Given the description of an element on the screen output the (x, y) to click on. 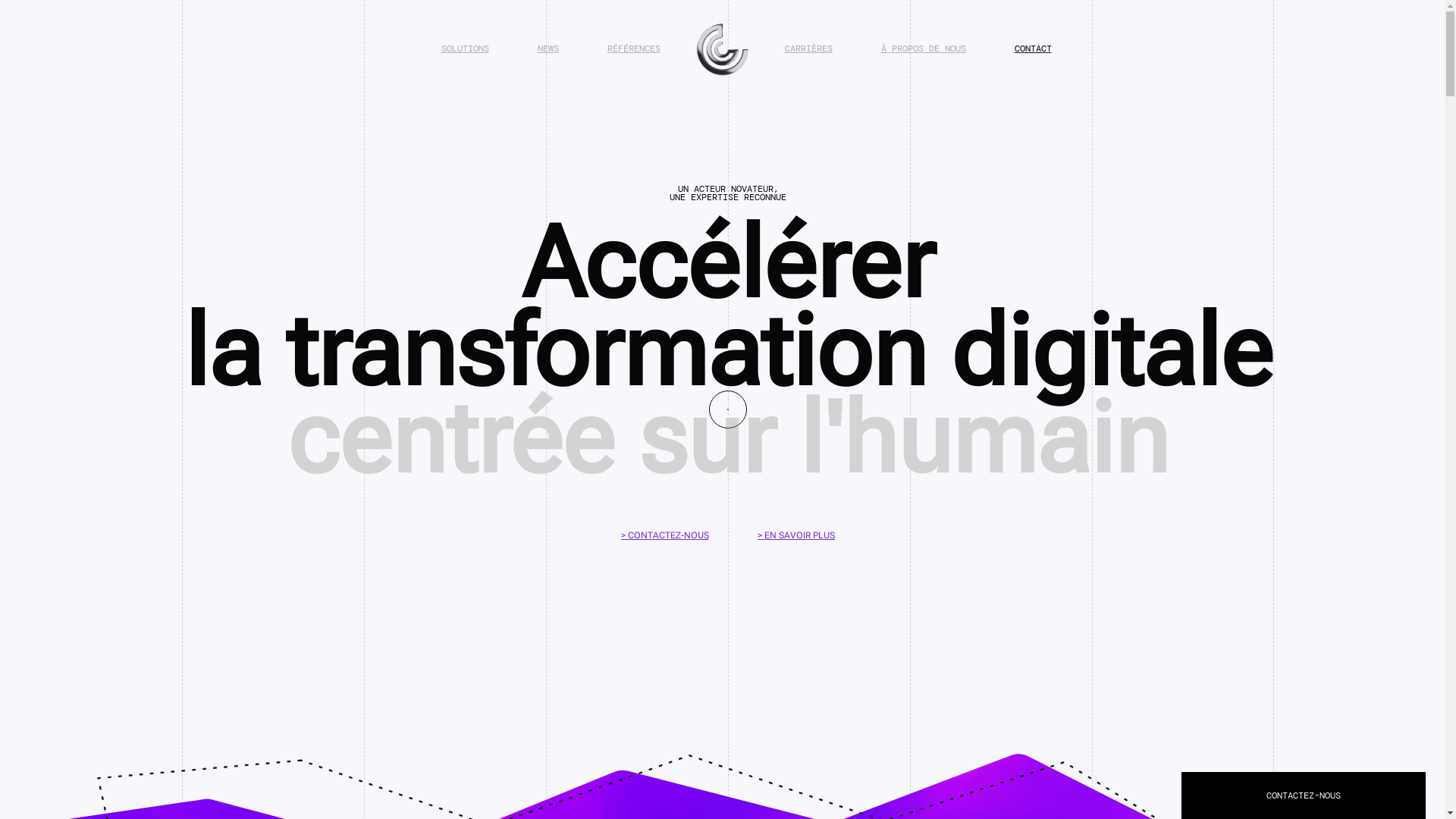
> EN SAVOIR PLUS Element type: text (795, 535)
TWITTER Element type: text (1239, 777)
MISSION Element type: text (968, 737)
VISION Element type: text (966, 717)
NEWS Element type: text (547, 48)
INSTAGRAM Element type: text (1244, 737)
HELLO@CRONOSWALLONIA.BE Element type: text (626, 741)
LINKEDIN Element type: text (1241, 717)
SOLUTIONS Element type: text (465, 48)
SERVICES Element type: text (971, 757)
> CONTACTEZ-NOUS Element type: text (665, 535)
FACEBOOK Element type: text (1241, 757)
CONTACT Element type: text (1032, 48)
